Given the description of an element on the screen output the (x, y) to click on. 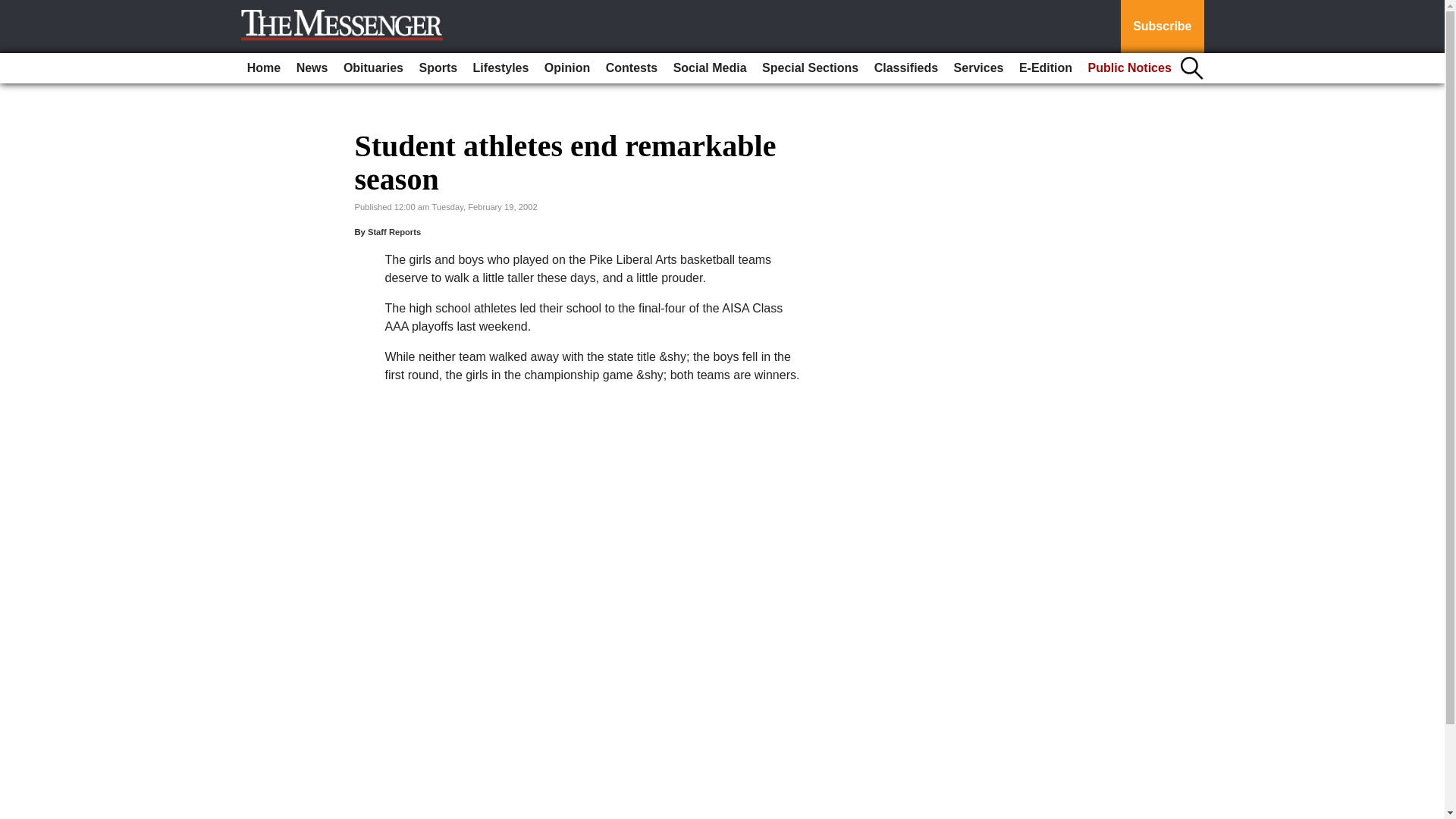
Classifieds (905, 68)
Public Notices (1129, 68)
Subscribe (1162, 26)
Social Media (709, 68)
E-Edition (1045, 68)
Obituaries (373, 68)
Services (978, 68)
Home (263, 68)
Contests (631, 68)
Lifestyles (501, 68)
Special Sections (809, 68)
News (311, 68)
Opinion (566, 68)
Sports (437, 68)
